Given the description of an element on the screen output the (x, y) to click on. 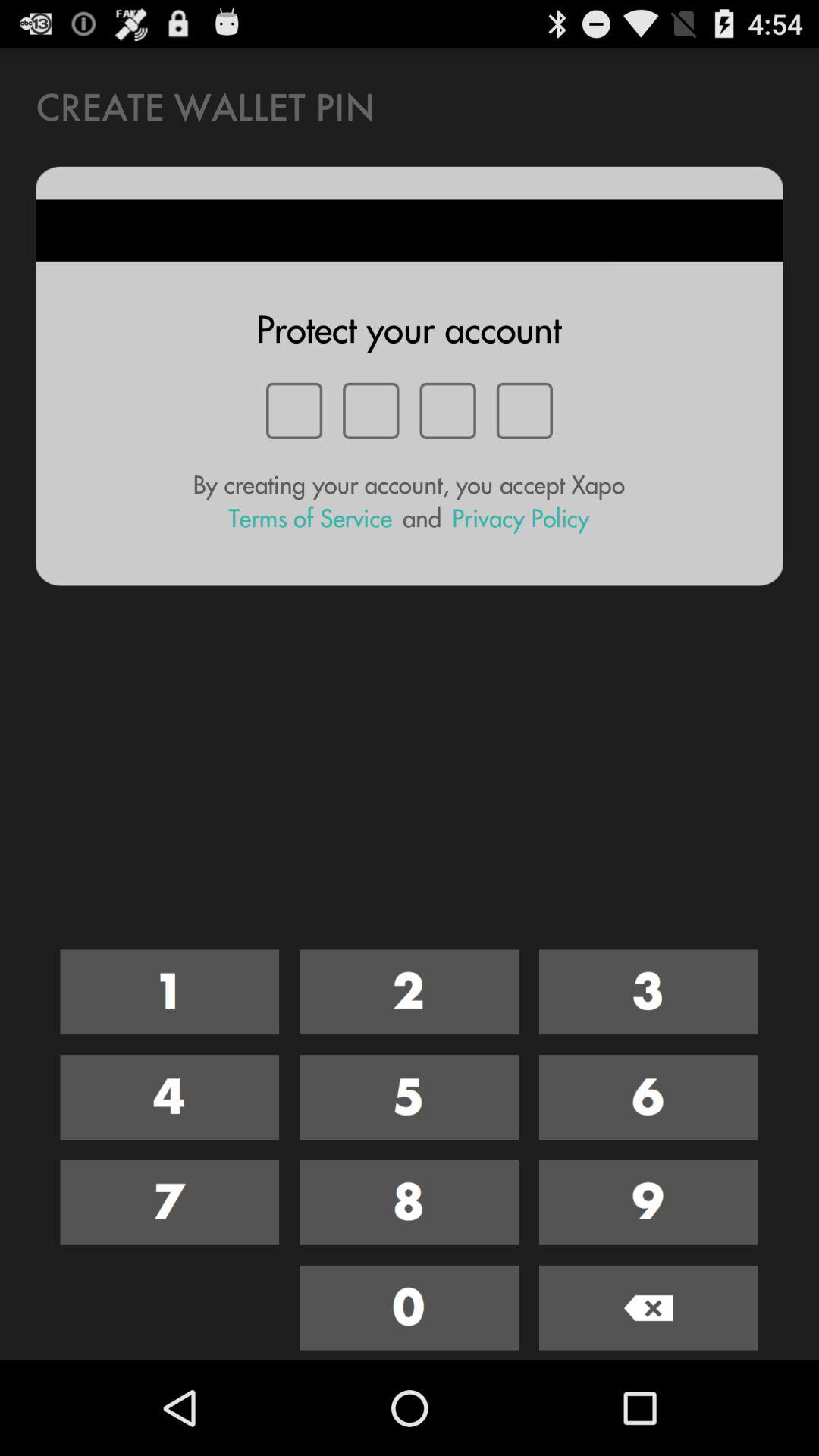
input numeral four (169, 1097)
